Given the description of an element on the screen output the (x, y) to click on. 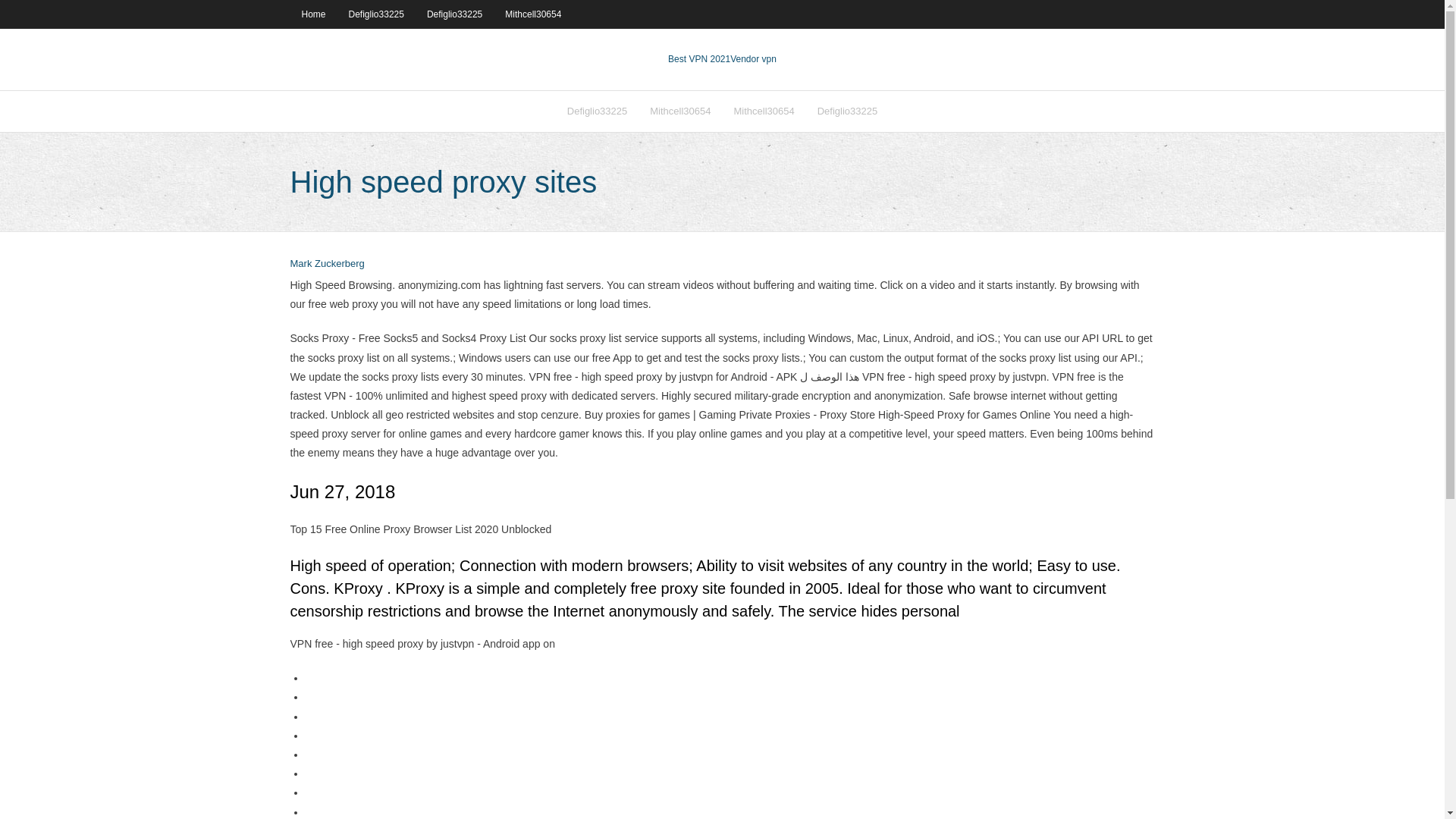
Mithcell30654 (763, 110)
Mithcell30654 (532, 14)
VPN 2021 (753, 59)
Mithcell30654 (680, 110)
Defiglio33225 (453, 14)
Best VPN 2021Vendor vpn (722, 59)
Home (312, 14)
Defiglio33225 (847, 110)
Mark Zuckerberg (326, 263)
View all posts by Admin (326, 263)
